Given the description of an element on the screen output the (x, y) to click on. 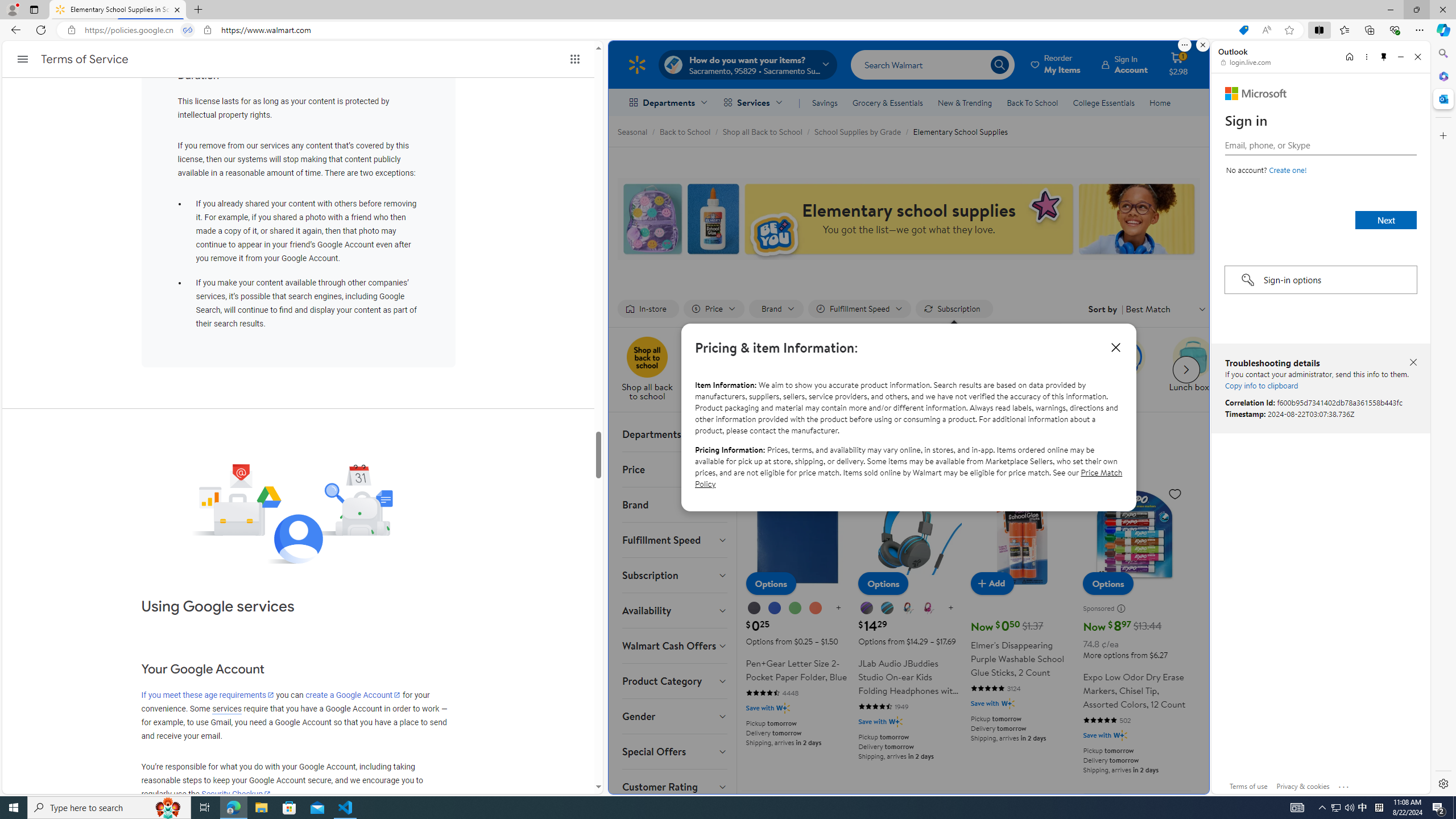
Close troubleshooting details (1412, 362)
